Given the description of an element on the screen output the (x, y) to click on. 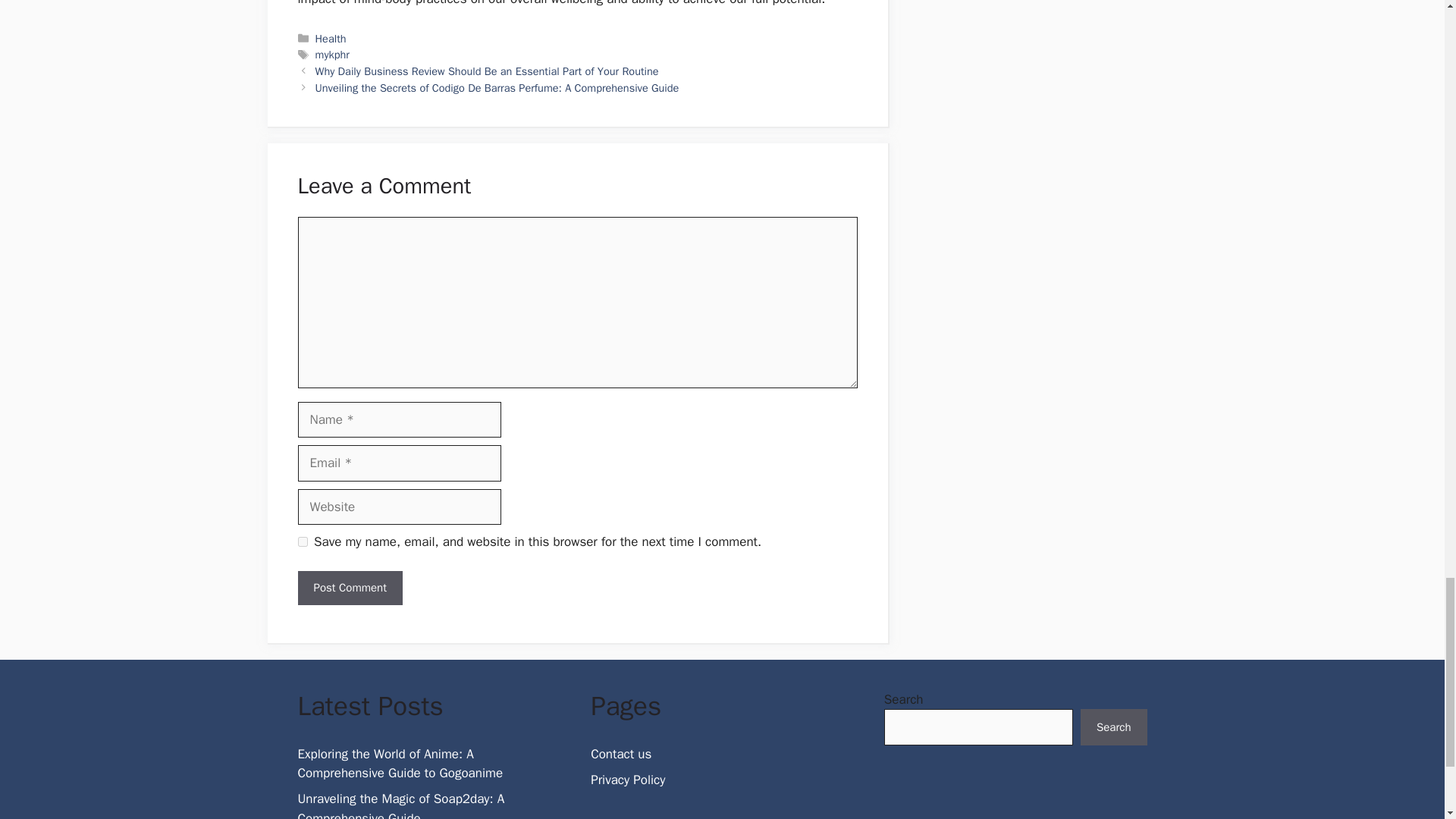
Contact us (620, 754)
Unraveling the Magic of Soap2day: A Comprehensive Guide (400, 805)
Post Comment (349, 587)
Search (1113, 727)
Privacy Policy (628, 779)
Post Comment (349, 587)
Health (330, 38)
mykphr (332, 54)
yes (302, 542)
